Given the description of an element on the screen output the (x, y) to click on. 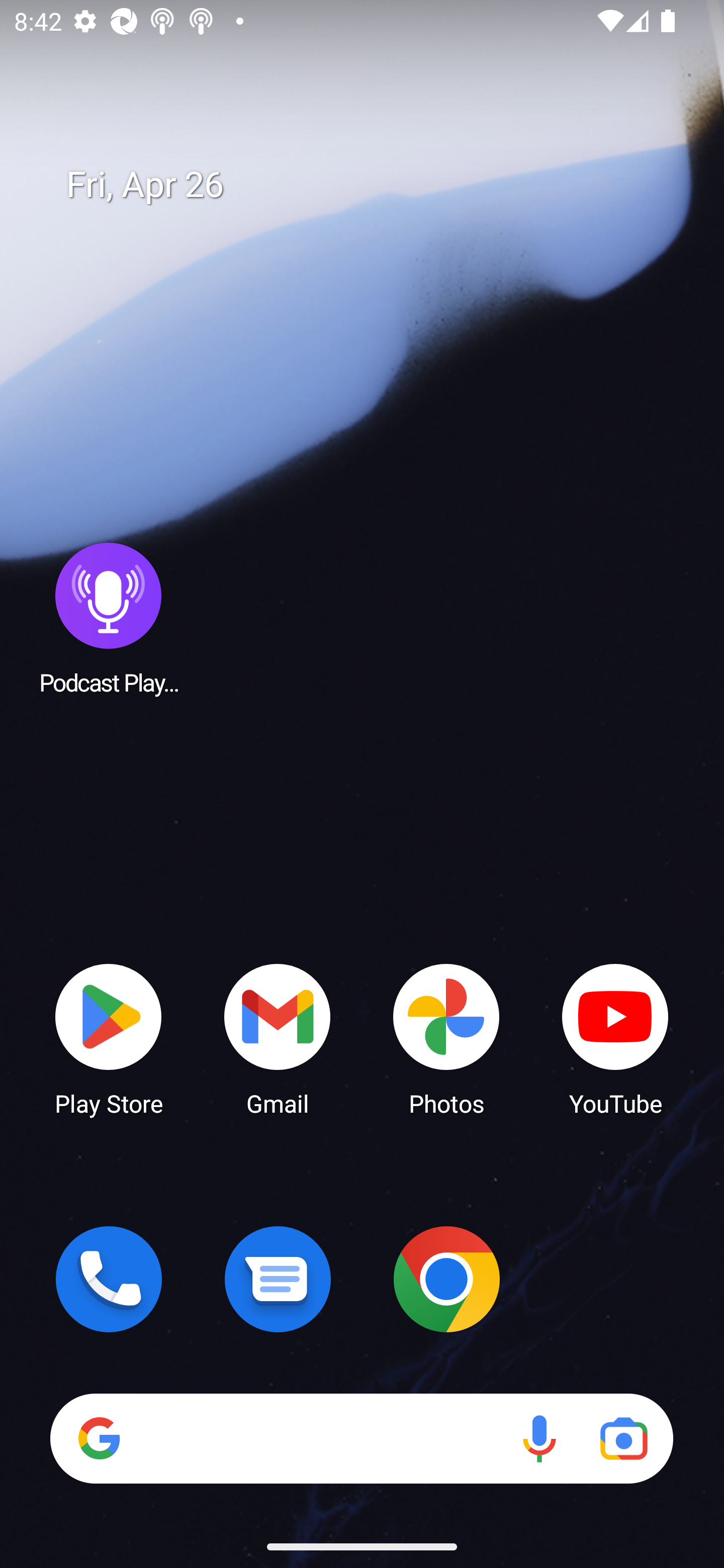
Fri, Apr 26 (375, 184)
Podcast Player (108, 617)
Play Store (108, 1038)
Gmail (277, 1038)
Photos (445, 1038)
YouTube (615, 1038)
Phone (108, 1279)
Messages (277, 1279)
Chrome (446, 1279)
Search Voice search Google Lens (361, 1438)
Voice search (539, 1438)
Google Lens (623, 1438)
